Given the description of an element on the screen output the (x, y) to click on. 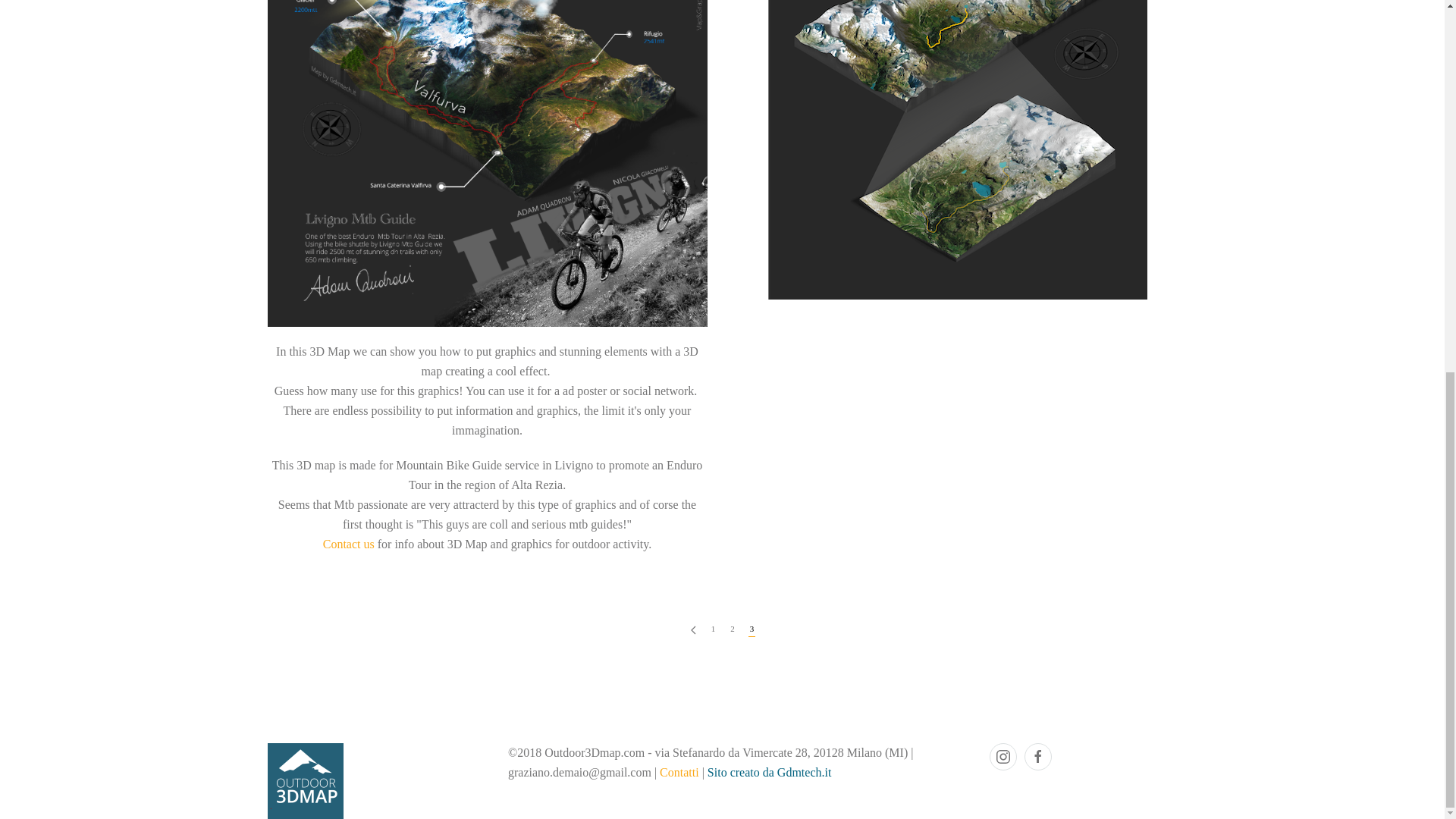
Sito creato da Gdmtech.it (769, 771)
Web agency e Seo Milano (769, 771)
Contact us for 3D map outdoor creation (348, 543)
Contact us (348, 543)
Contatti (678, 771)
